Given the description of an element on the screen output the (x, y) to click on. 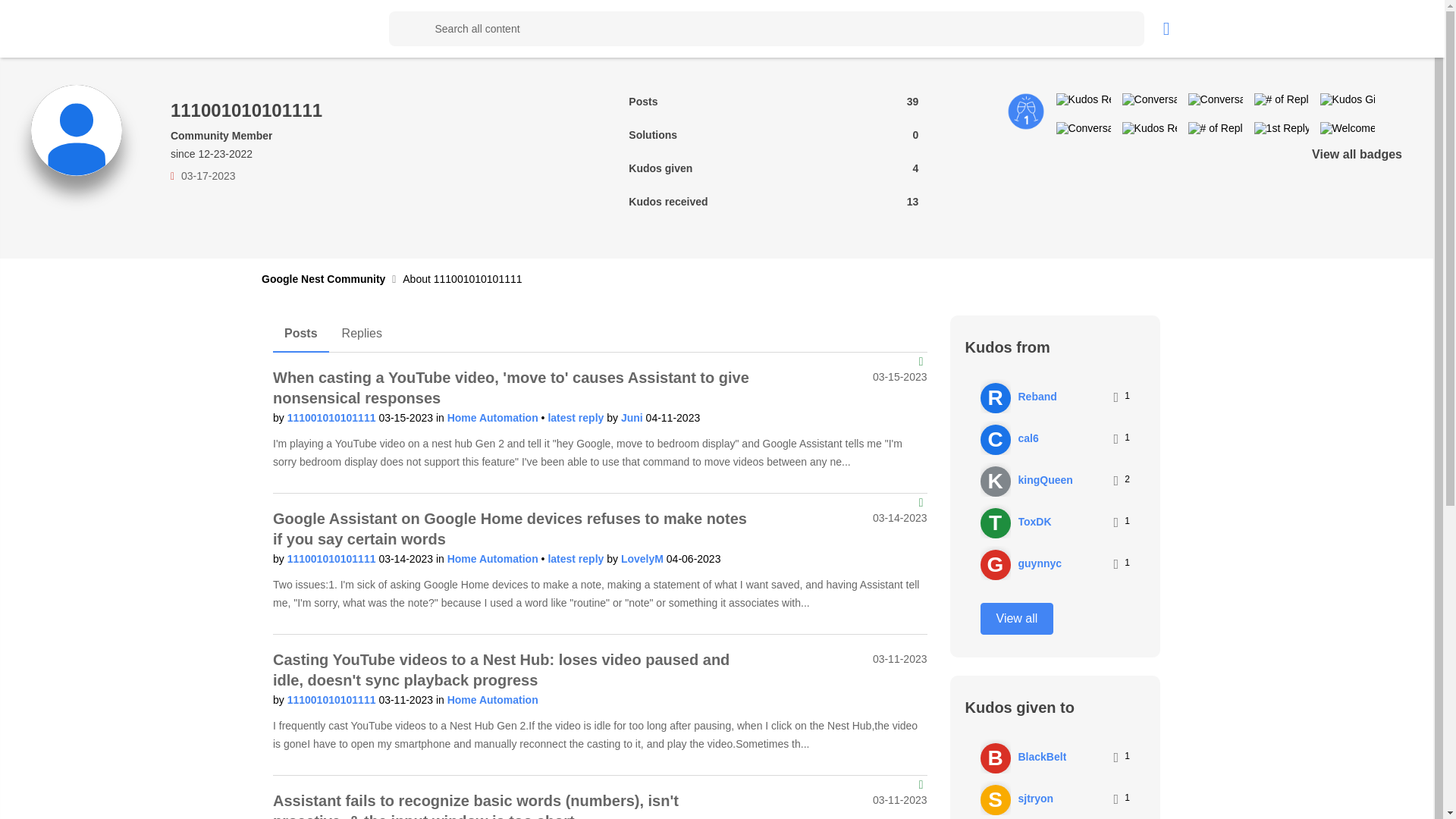
Home Automation (493, 417)
View profile (332, 417)
Replies (361, 333)
Home Automation (493, 558)
Search (765, 28)
Search (405, 29)
View all badges (1356, 154)
1st Reply (1280, 128)
111001010101111 (332, 558)
